Given the description of an element on the screen output the (x, y) to click on. 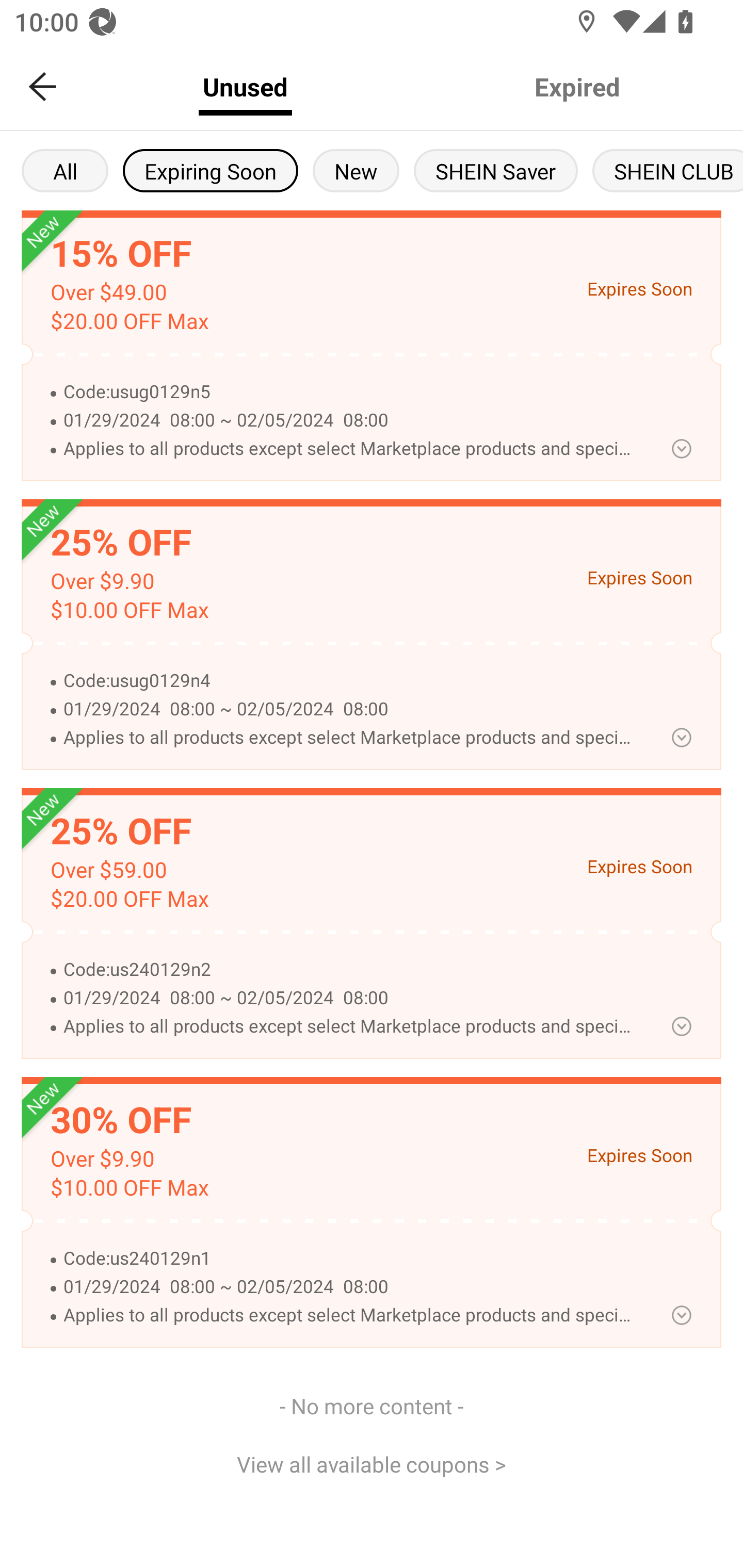
Unused (244, 86)
Expired (576, 86)
All (64, 170)
Expiring Soon (209, 170)
New (355, 170)
SHEIN Saver (495, 170)
SHEIN CLUB (667, 170)
$20.00 OFF Max (129, 320)
Code:usug0129n5 (350, 391)
01/29/2024  08:00 ~ 02/05/2024  08:00 (350, 420)
Pack up (681, 448)
$10.00 OFF Max (129, 609)
Code:usug0129n4 (350, 681)
01/29/2024  08:00 ~ 02/05/2024  08:00 (350, 709)
Pack up (681, 737)
$20.00 OFF Max (129, 898)
Code:us240129n2 (350, 969)
01/29/2024  08:00 ~ 02/05/2024  08:00 (350, 997)
view more (681, 1026)
$10.00 OFF Max (129, 1188)
Code:us240129n1 (350, 1259)
01/29/2024  08:00 ~ 02/05/2024  08:00 (350, 1287)
Pack up (681, 1315)
View all available coupons > (371, 1463)
